Given the description of an element on the screen output the (x, y) to click on. 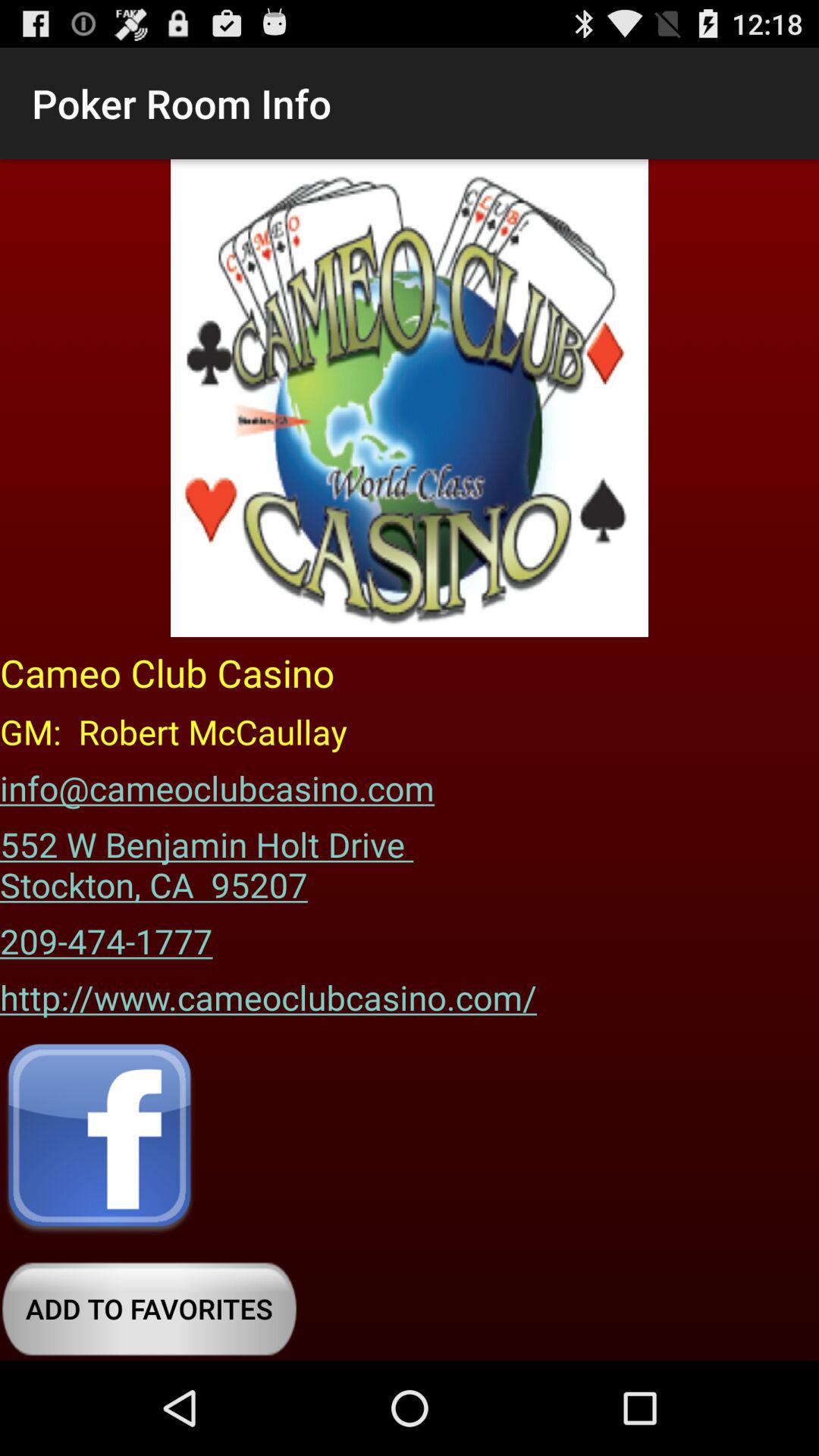
flip to 552 w benjamin (212, 859)
